Given the description of an element on the screen output the (x, y) to click on. 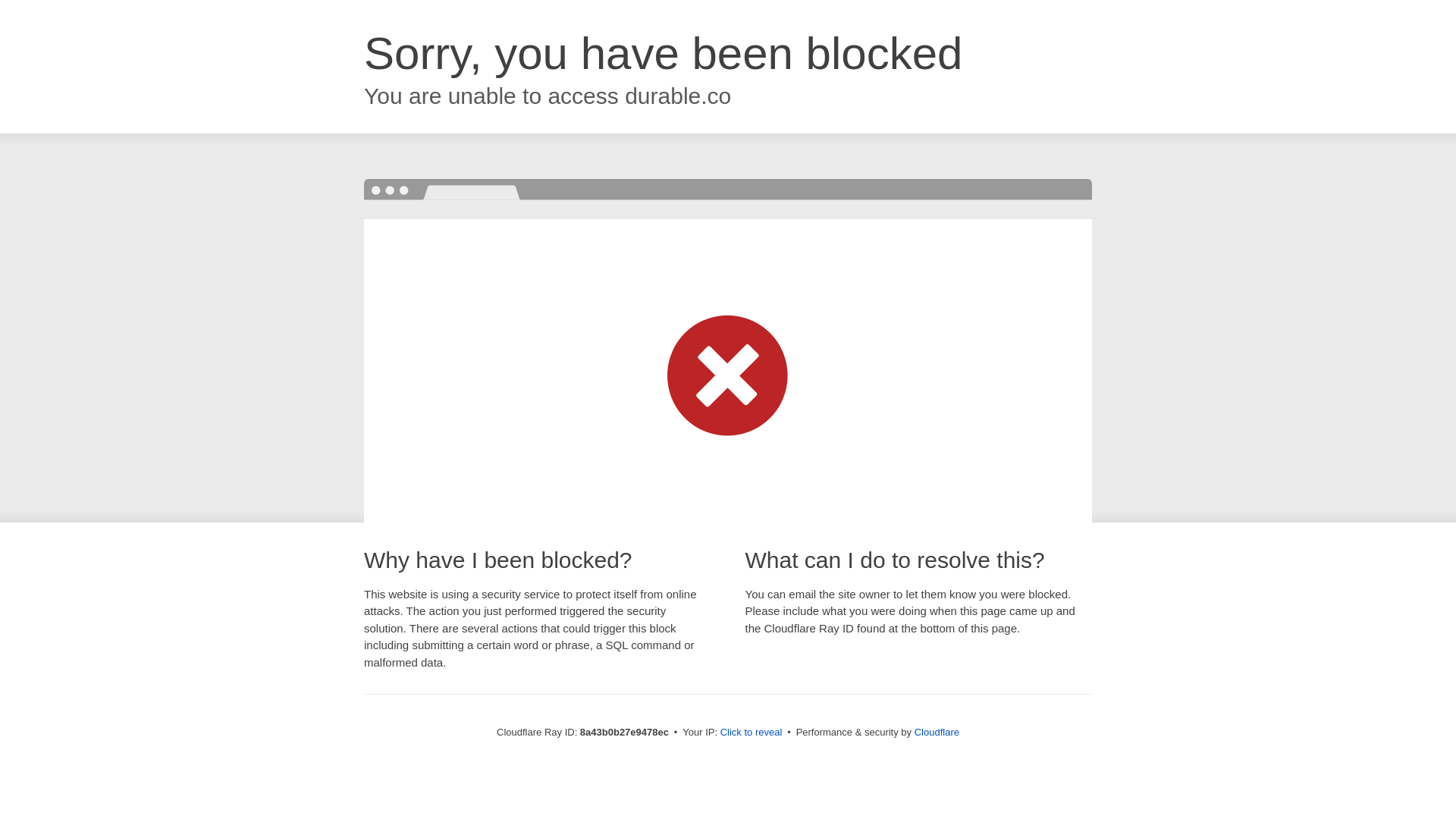
Cloudflare (936, 731)
Click to reveal (751, 732)
